Given the description of an element on the screen output the (x, y) to click on. 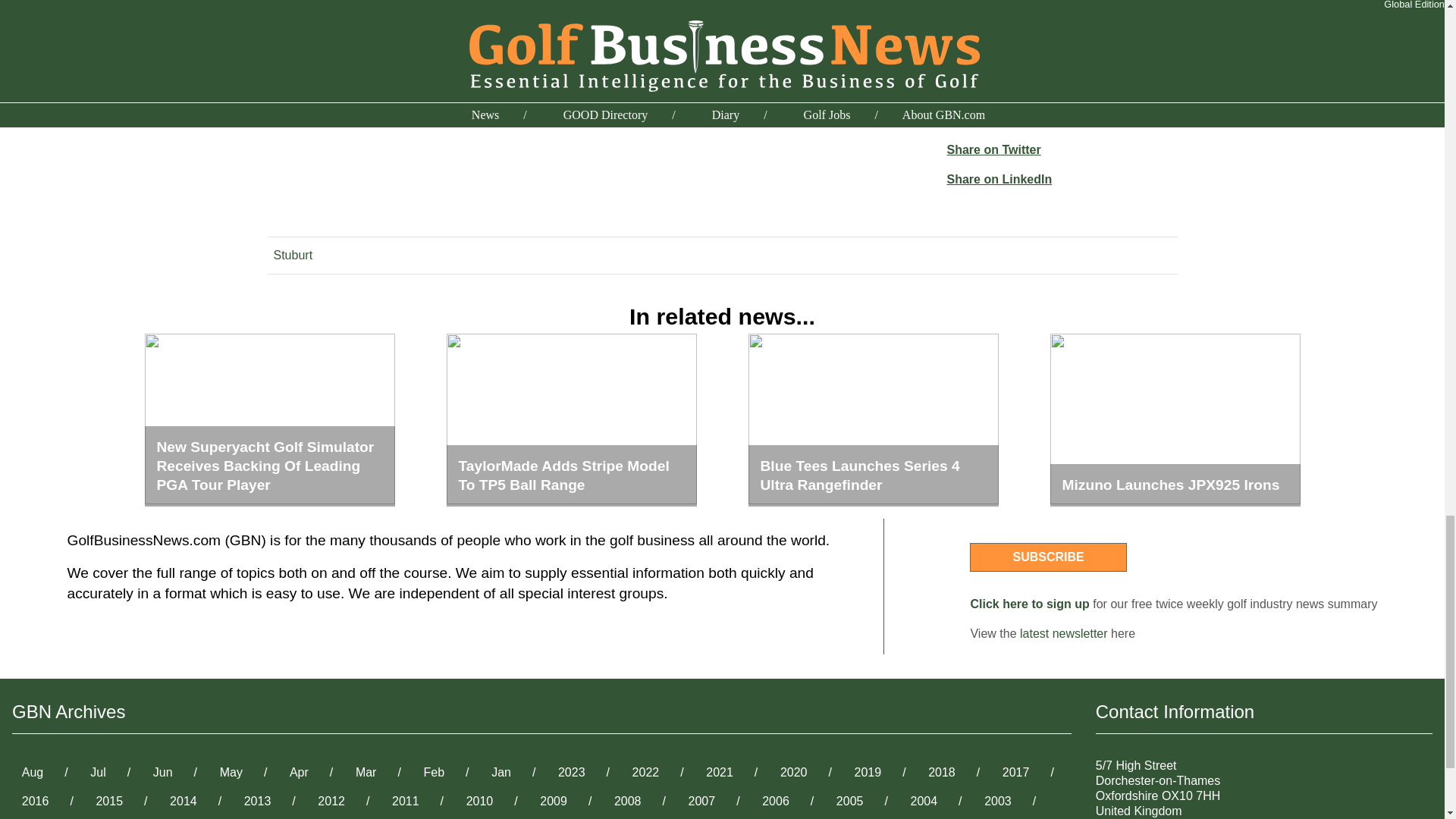
TaylorMade Adds Stripe Model To TP5 Ball Range (570, 419)
Blue Tees Launches Series 4 Ultra Rangefinder (872, 419)
SUBSCRIBE (1047, 556)
Stuburt (292, 254)
latest newsletter (1064, 633)
Share on LinkedIn (998, 178)
Share on Twitter (993, 149)
Aug (32, 771)
Mizuno Launches JPX925 Irons (1174, 419)
